Given the description of an element on the screen output the (x, y) to click on. 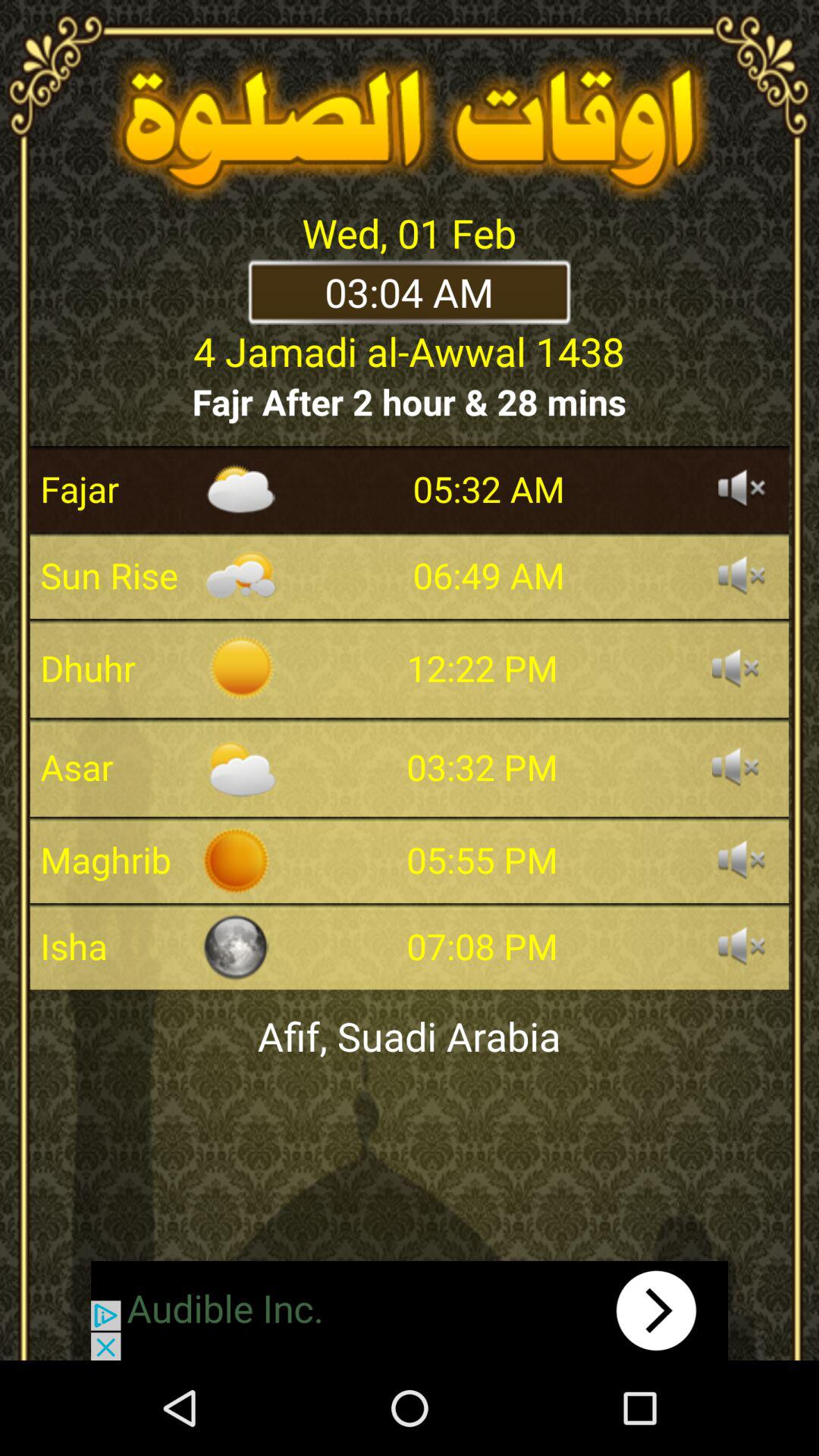
advertisement link to different site (409, 1310)
